Given the description of an element on the screen output the (x, y) to click on. 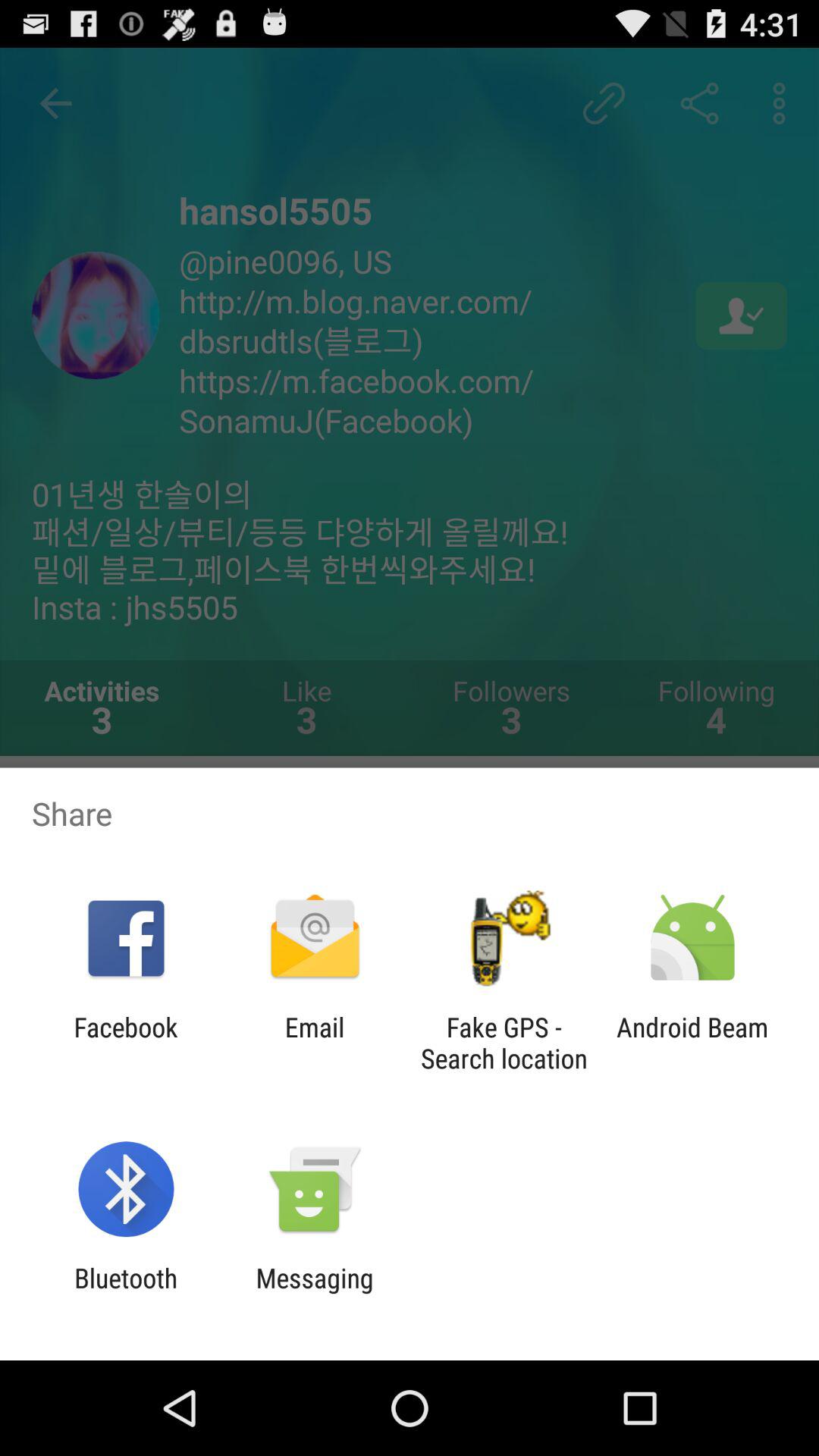
click icon next to bluetooth app (314, 1293)
